Given the description of an element on the screen output the (x, y) to click on. 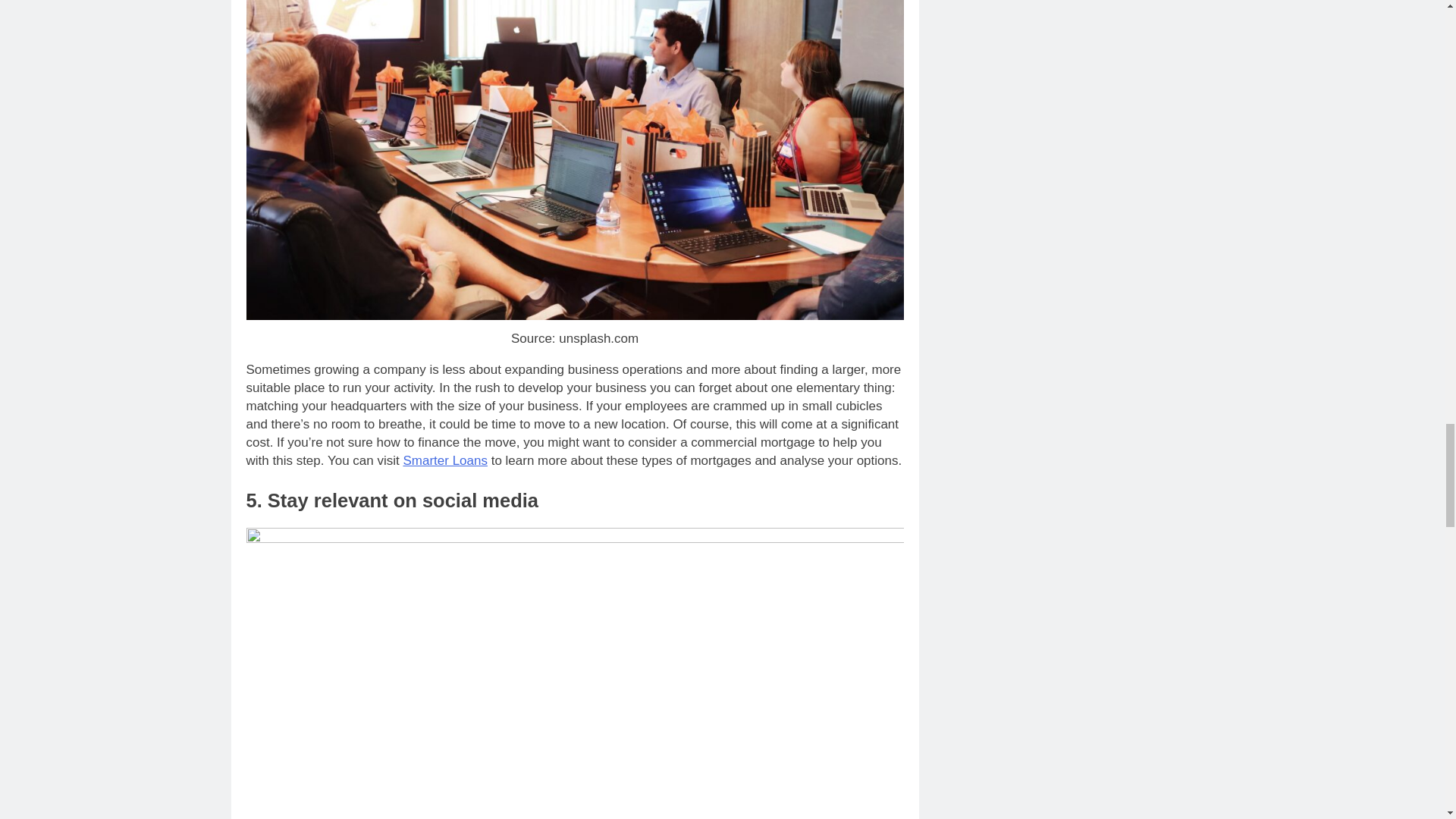
Smarter Loans (445, 460)
